Given the description of an element on the screen output the (x, y) to click on. 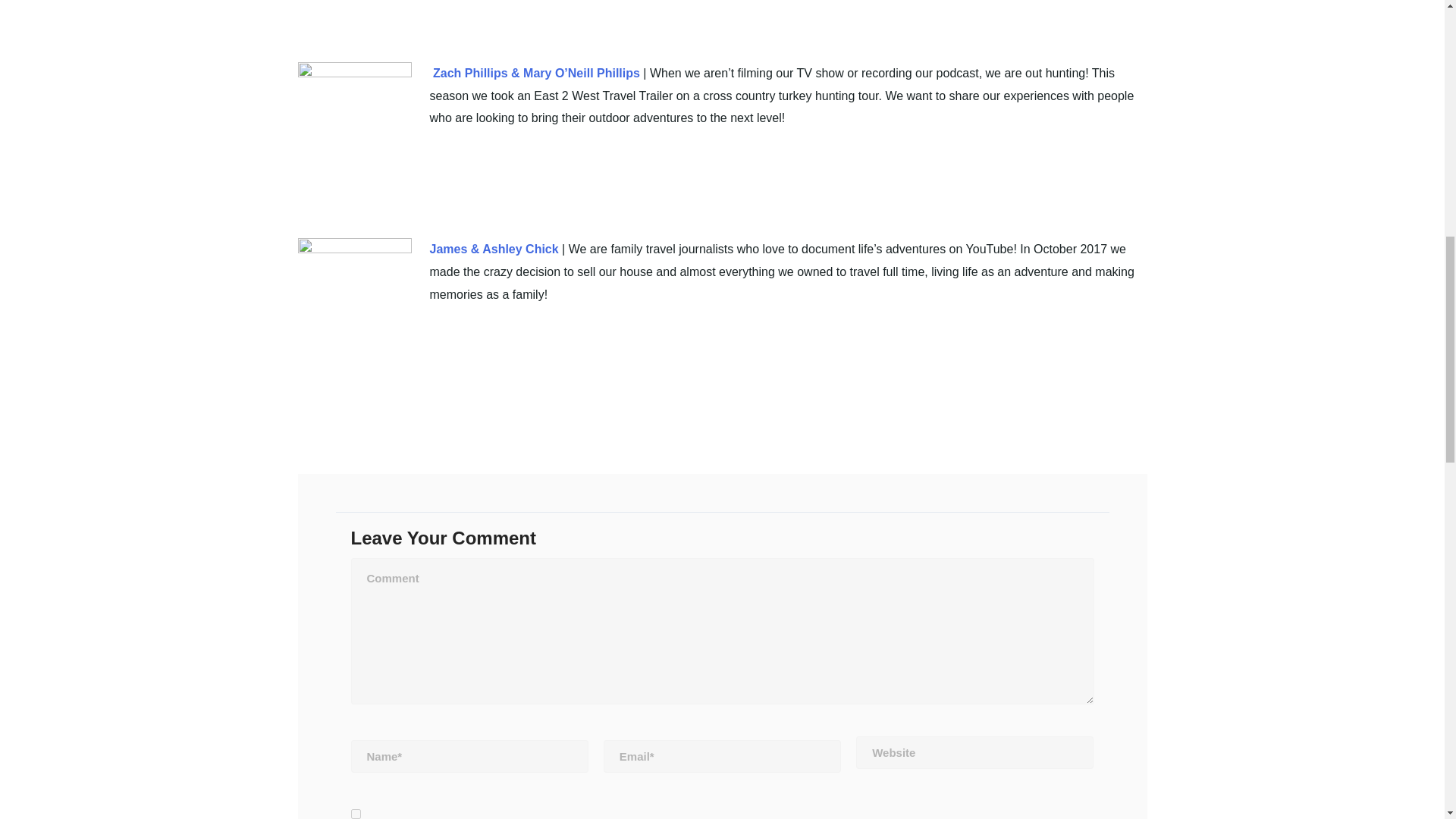
yes (354, 814)
